Given the description of an element on the screen output the (x, y) to click on. 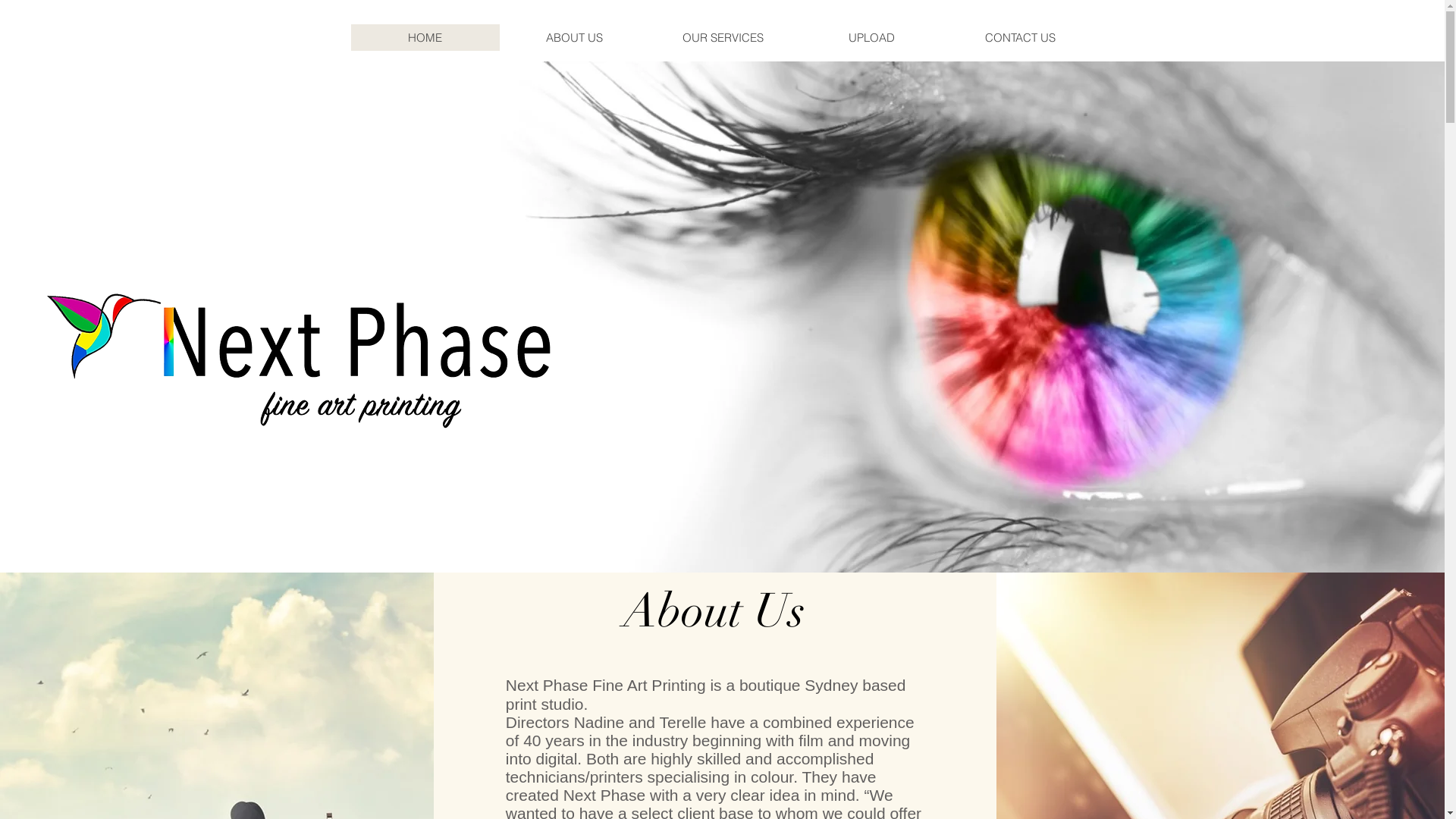
HOME Element type: text (424, 37)
ABOUT US Element type: text (572, 37)
OUR SERVICES Element type: text (721, 37)
UPLOAD Element type: text (870, 37)
CONTACT US Element type: text (1018, 37)
